Given the description of an element on the screen output the (x, y) to click on. 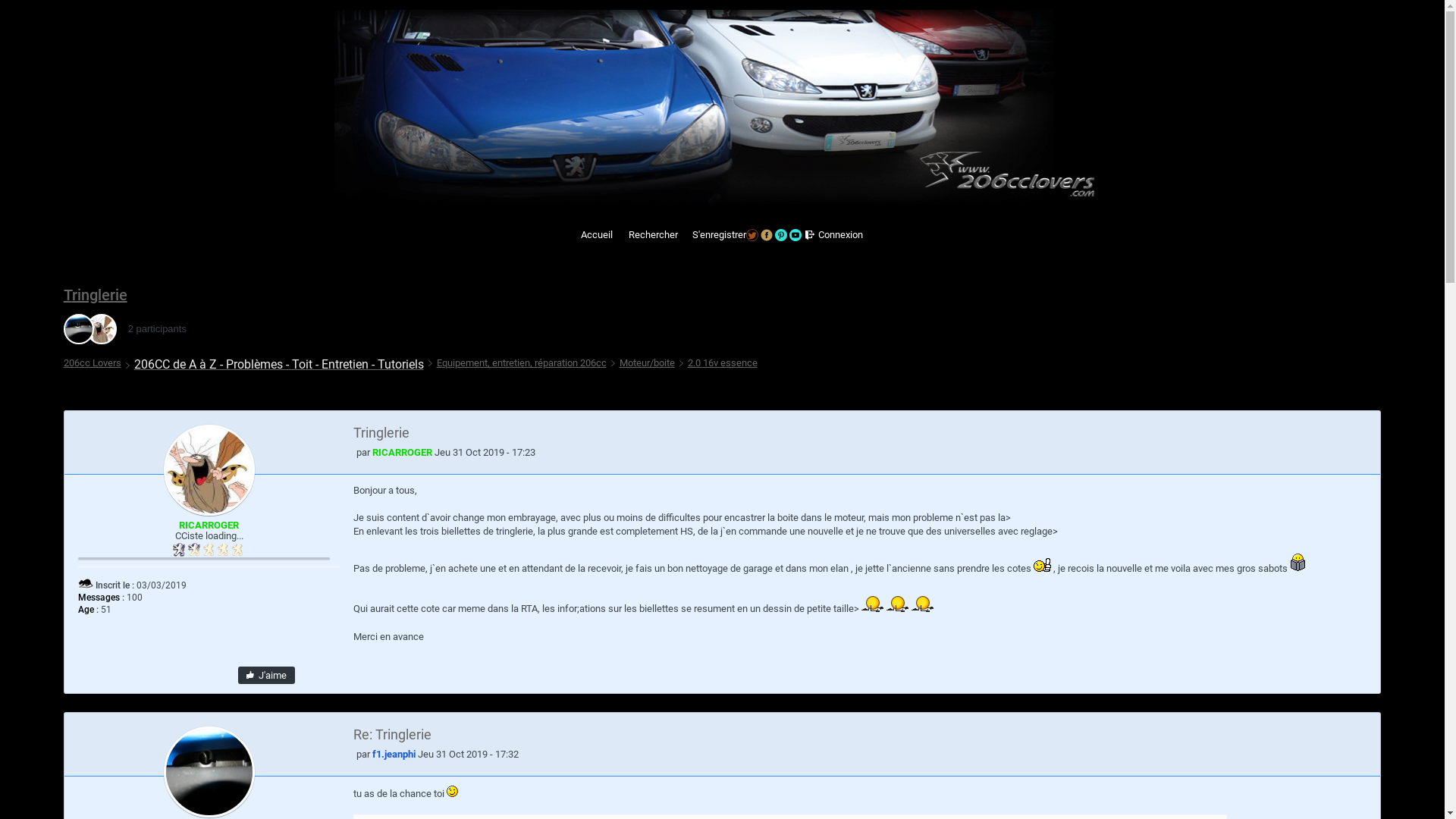
Tringlerie Element type: text (823, 432)
2.0 16v essence Element type: text (718, 362)
RICARROGER Element type: hover (97, 328)
206cc Lovers Element type: text (92, 362)
Accueil Element type: hover (572, 235)
Connexion Element type: text (839, 234)
CCiste loading... Element type: hover (209, 549)
Message Element type: hover (353, 756)
Accueil Element type: text (595, 234)
S'enregistrer Element type: text (717, 234)
Rechercher Element type: hover (620, 235)
Connexion Element type: hover (809, 235)
Re: Tringlerie Element type: text (823, 734)
S'enregistrer Element type: hover (683, 235)
Rechercher Element type: text (651, 234)
J'aime Element type: text (266, 675)
f1.jeanphi Element type: hover (82, 328)
Tringlerie Element type: text (95, 294)
Moteur/boite Element type: text (642, 362)
Rat Element type: hover (85, 581)
Message Element type: hover (353, 455)
